Given the description of an element on the screen output the (x, y) to click on. 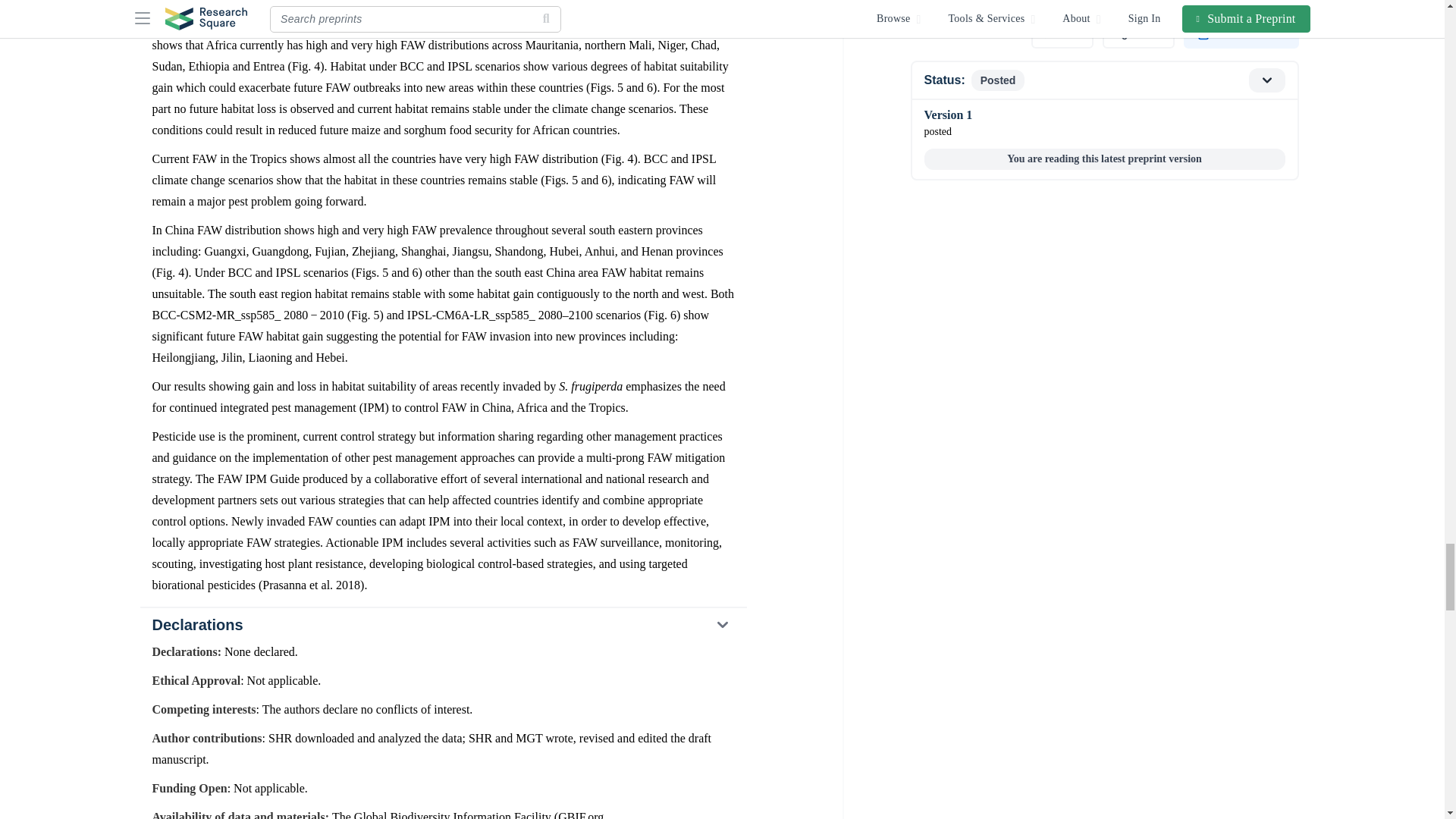
Declarations (442, 624)
